Given the description of an element on the screen output the (x, y) to click on. 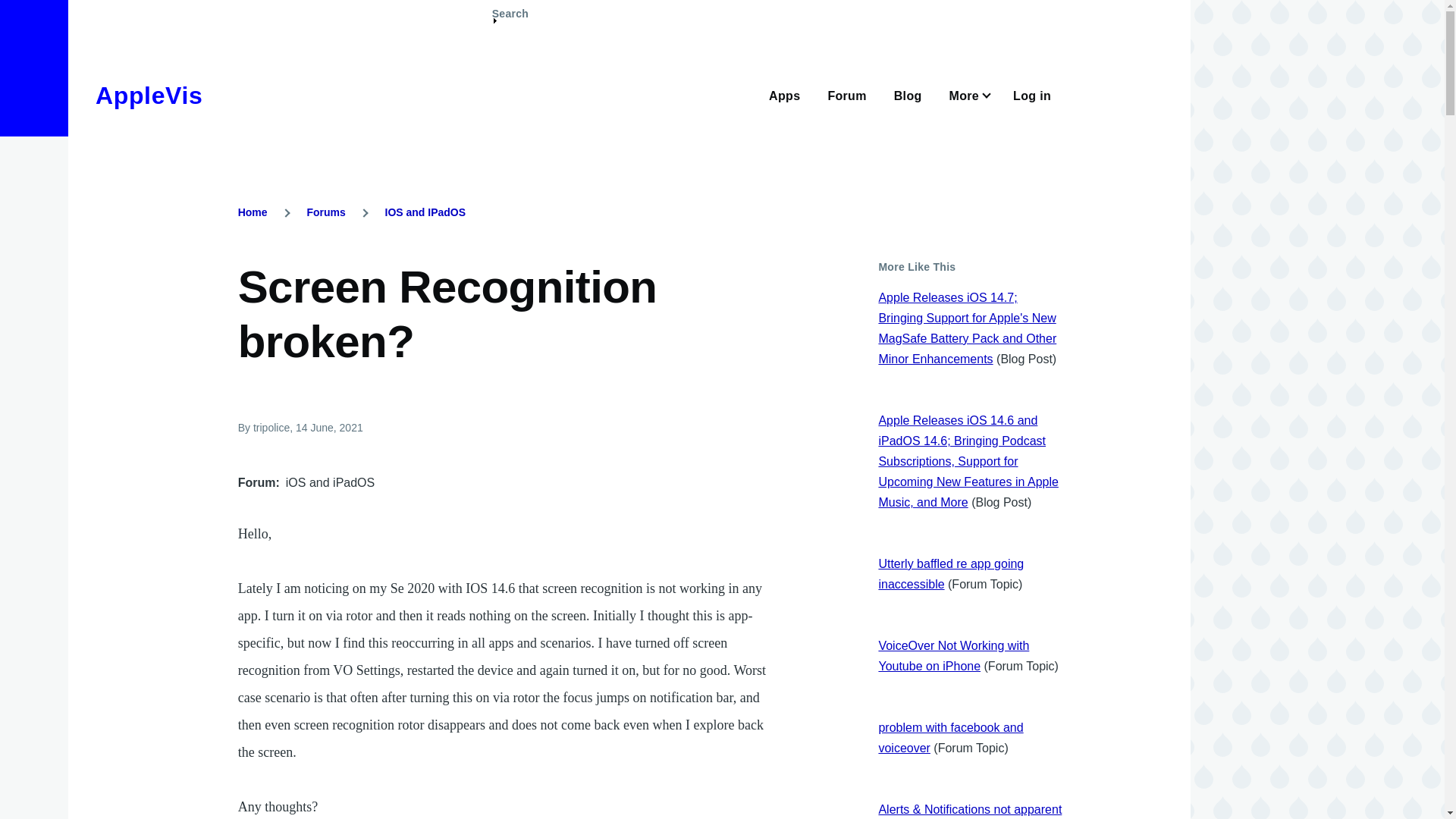
Apps (783, 94)
Forum (846, 94)
Home (149, 94)
Forums (325, 212)
More community resources (968, 94)
IOS and IPadOS (425, 212)
Skip to main content (595, 6)
AppleVis (149, 94)
More (968, 94)
Log in (1032, 94)
Search (510, 20)
Blog (907, 94)
Home (252, 212)
Browse and search our App Directories (783, 94)
